Given the description of an element on the screen output the (x, y) to click on. 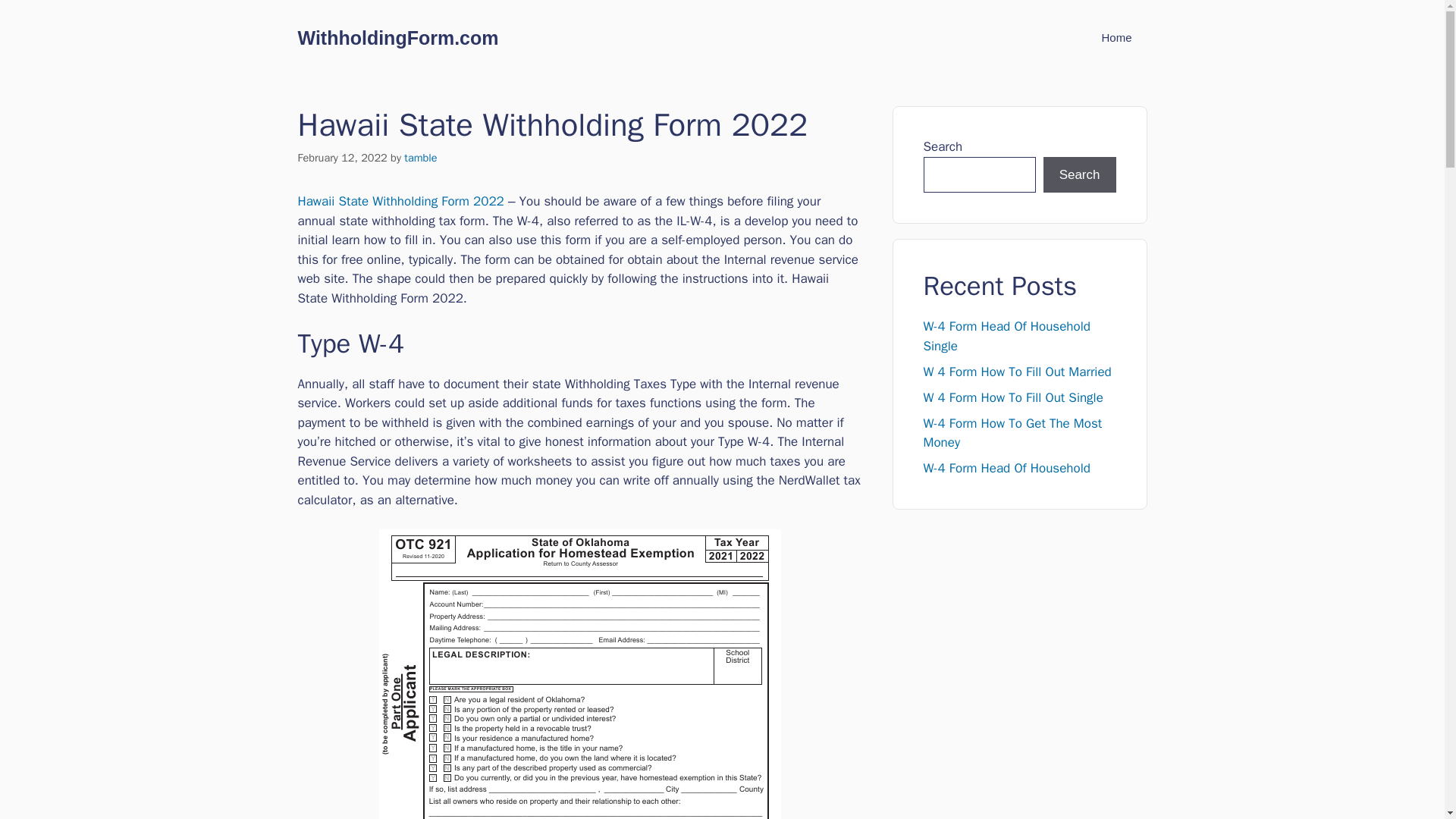
W 4 Form How To Fill Out Single (1013, 397)
W-4 Form How To Get The Most Money (1012, 433)
Search (1079, 174)
Hawaii State Withholding Form 2022 (400, 201)
tamble (420, 157)
W 4 Form How To Fill Out Married (1017, 371)
W-4 Form Head Of Household Single (1006, 335)
Home (1116, 37)
W-4 Form Head Of Household (1006, 467)
WithholdingForm.com (397, 37)
View all posts by tamble (420, 157)
